Given the description of an element on the screen output the (x, y) to click on. 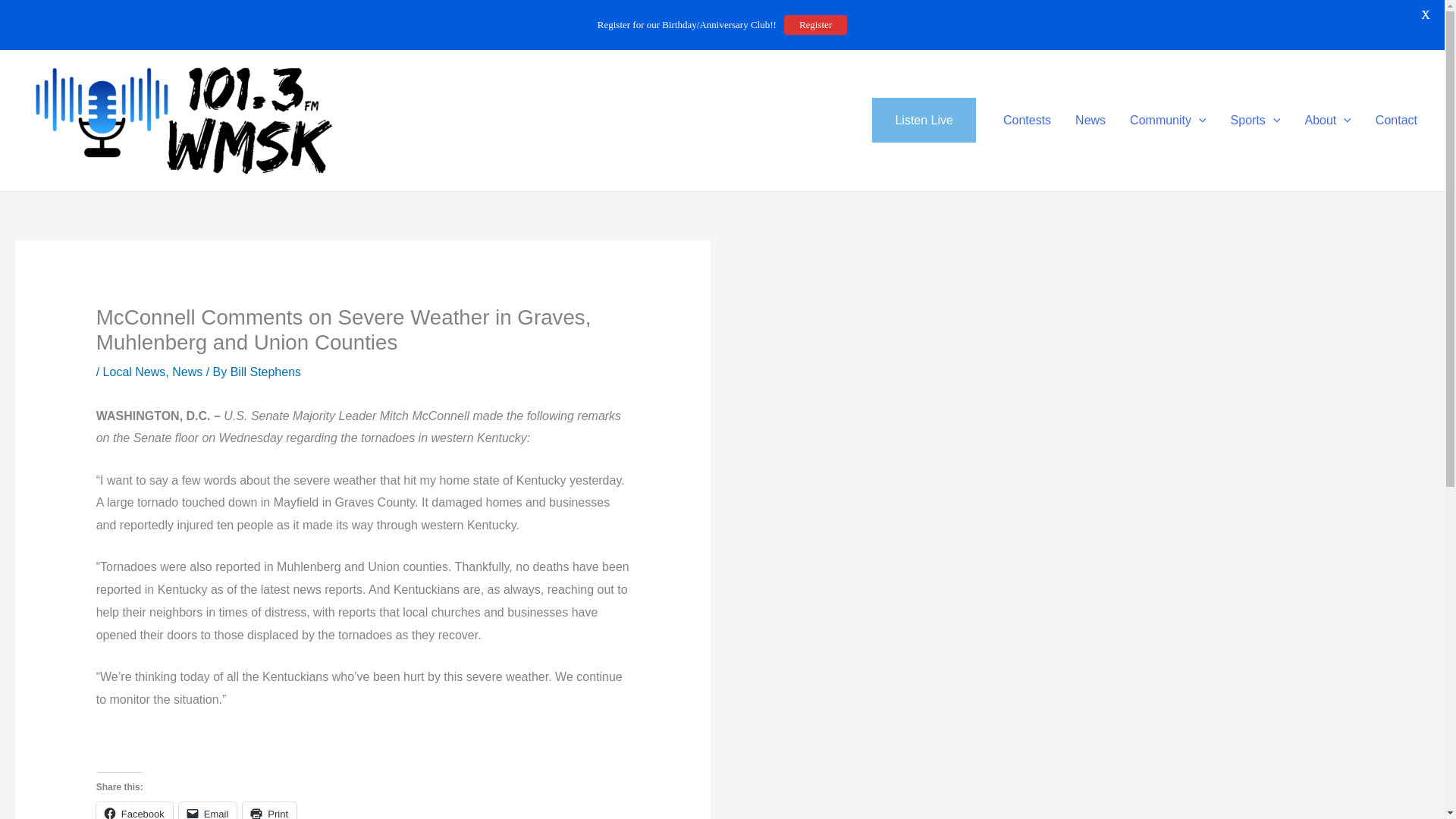
Sports (1255, 120)
About (1327, 120)
News (1090, 120)
View all posts by Bill Stephens (265, 371)
Contact (1395, 120)
Click to email a link to a friend (208, 810)
Click to print (270, 810)
Click to share on Facebook (134, 810)
Contests (1026, 120)
Listen Live (923, 120)
